Given the description of an element on the screen output the (x, y) to click on. 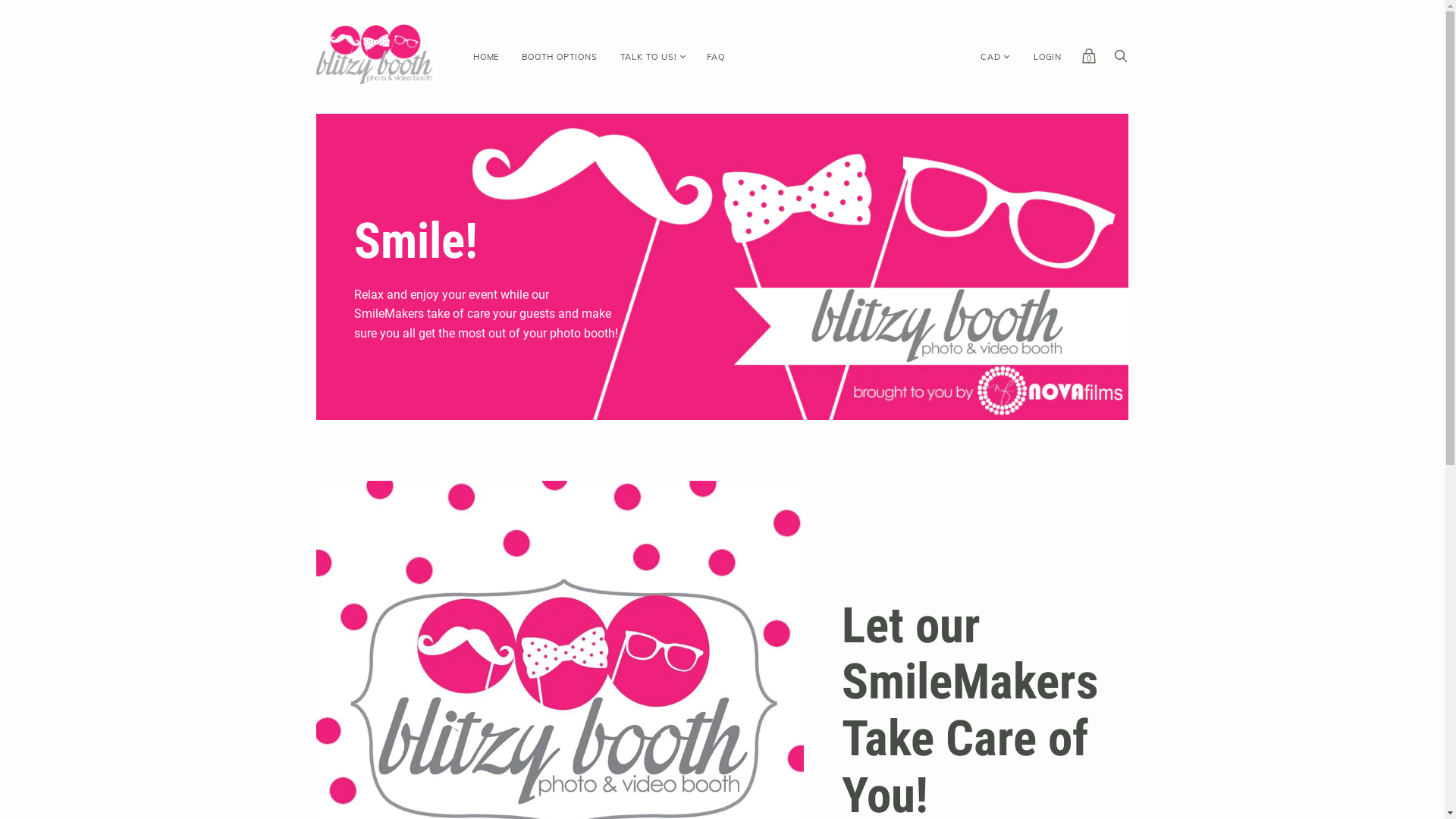
FAQ Element type: text (715, 56)
BOOTH OPTIONS Element type: text (559, 56)
0 Element type: text (1088, 59)
HOME Element type: text (485, 56)
TALK TO US! Element type: text (648, 56)
LOGIN Element type: text (1047, 56)
